Given the description of an element on the screen output the (x, y) to click on. 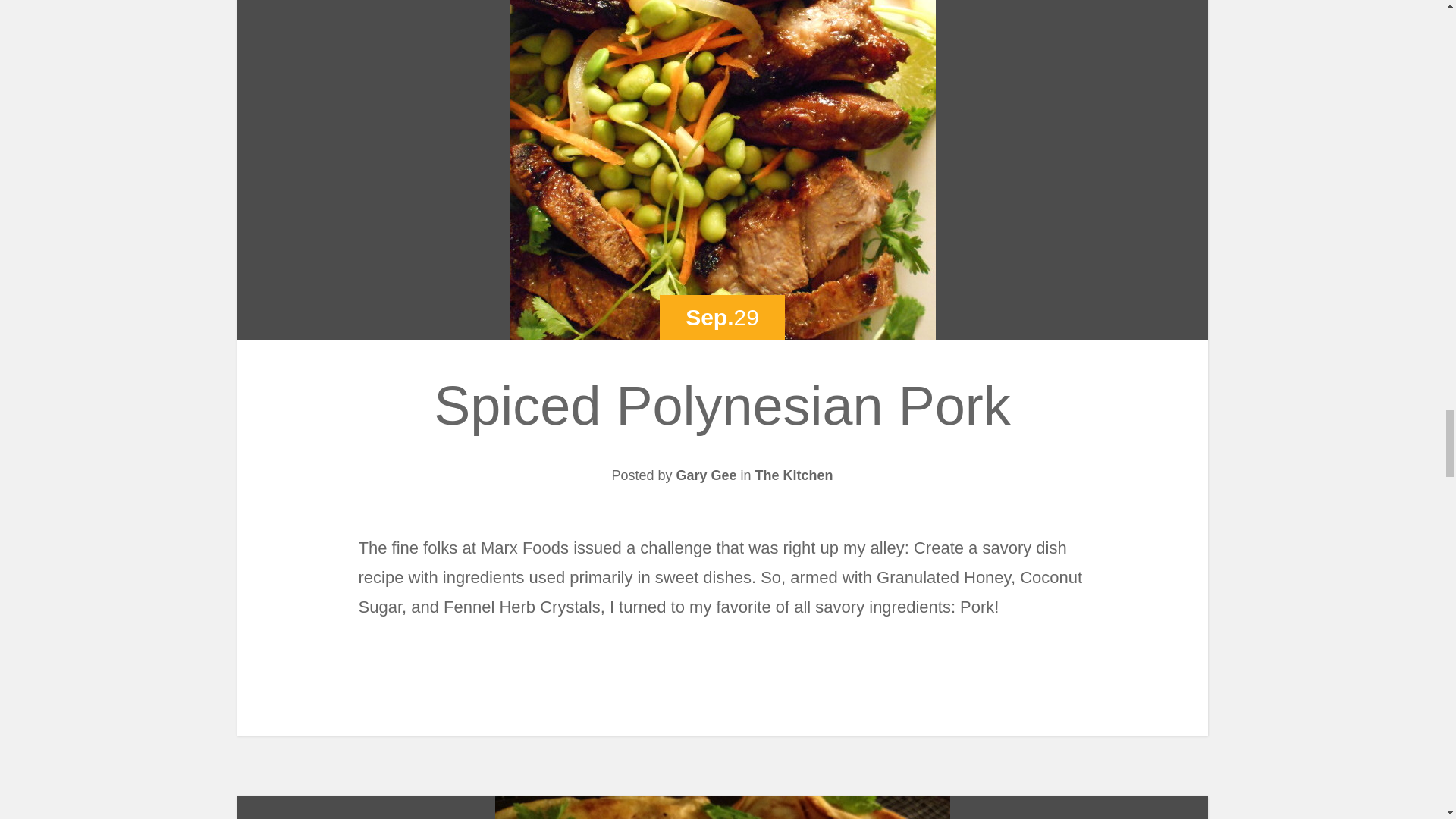
Posts by Gary Gee (705, 475)
